Given the description of an element on the screen output the (x, y) to click on. 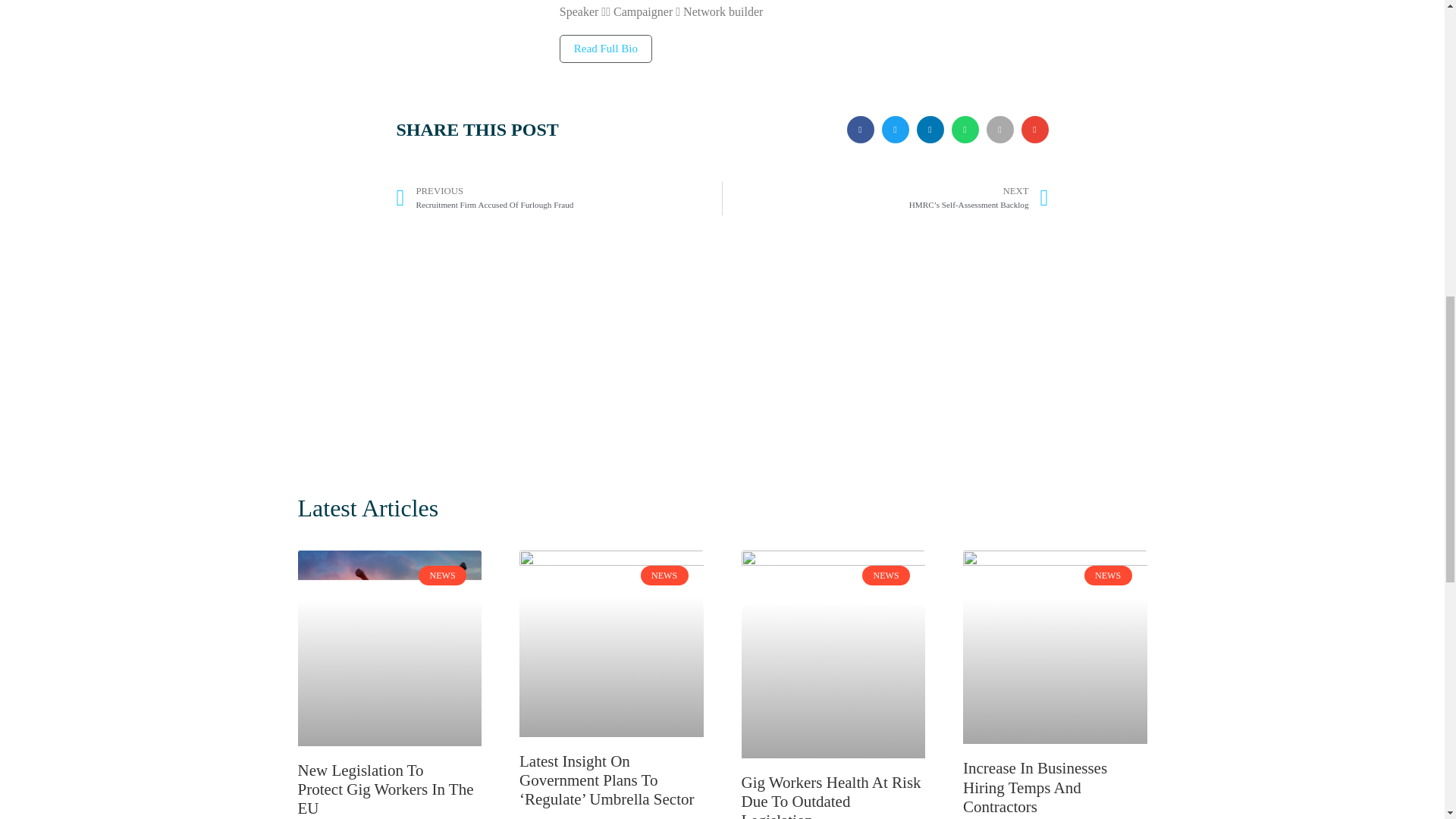
Gig Workers Health At Risk Due To Outdated Legislation (831, 796)
Read Full Bio (605, 49)
New Legislation To Protect Gig Workers In The EU (559, 197)
Increase In Businesses Hiring Temps And Contractors (385, 789)
